Given the description of an element on the screen output the (x, y) to click on. 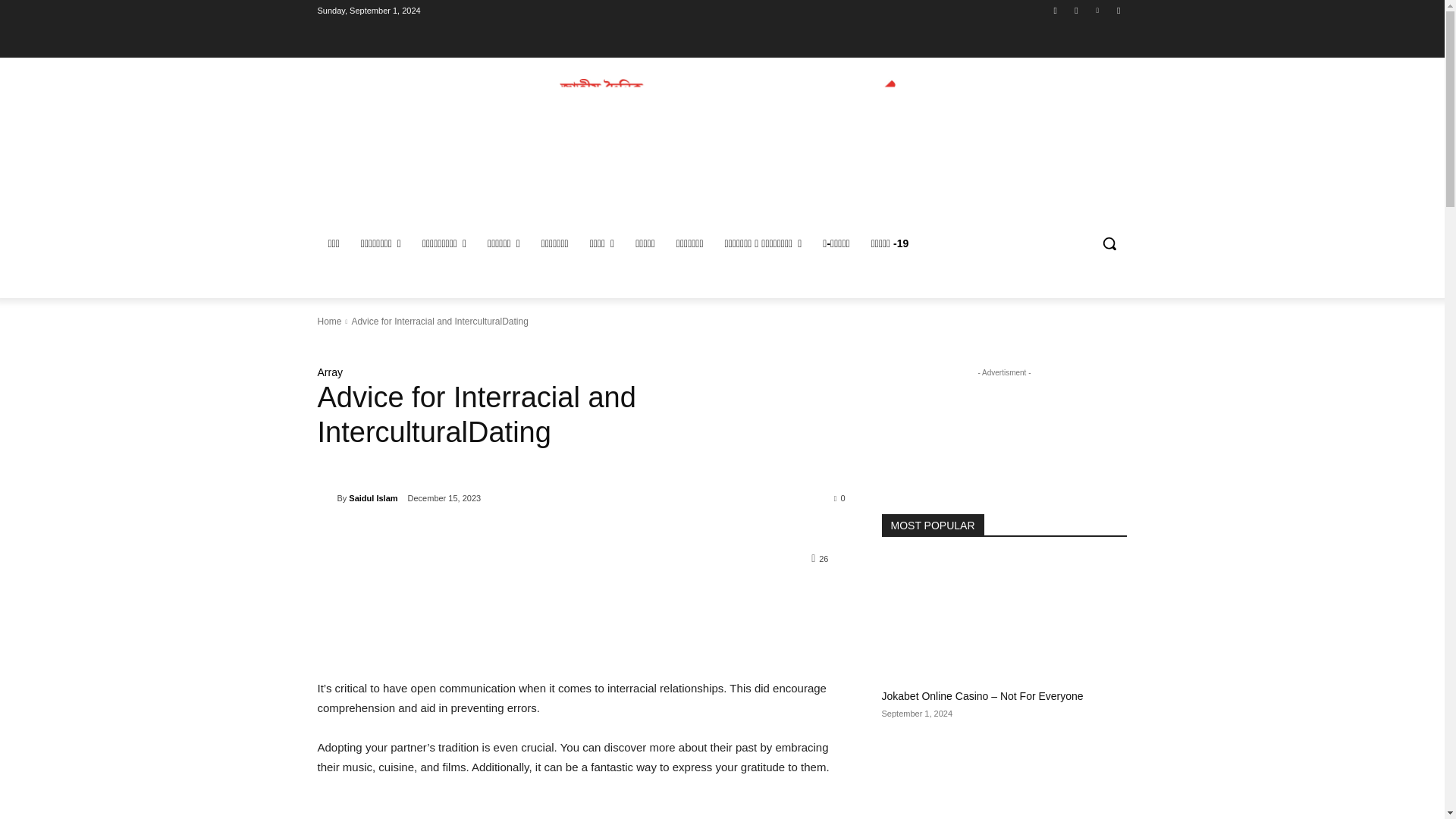
Instagram (1075, 9)
Twitter (1097, 9)
Facebook (1055, 9)
Youtube (1117, 9)
